Given the description of an element on the screen output the (x, y) to click on. 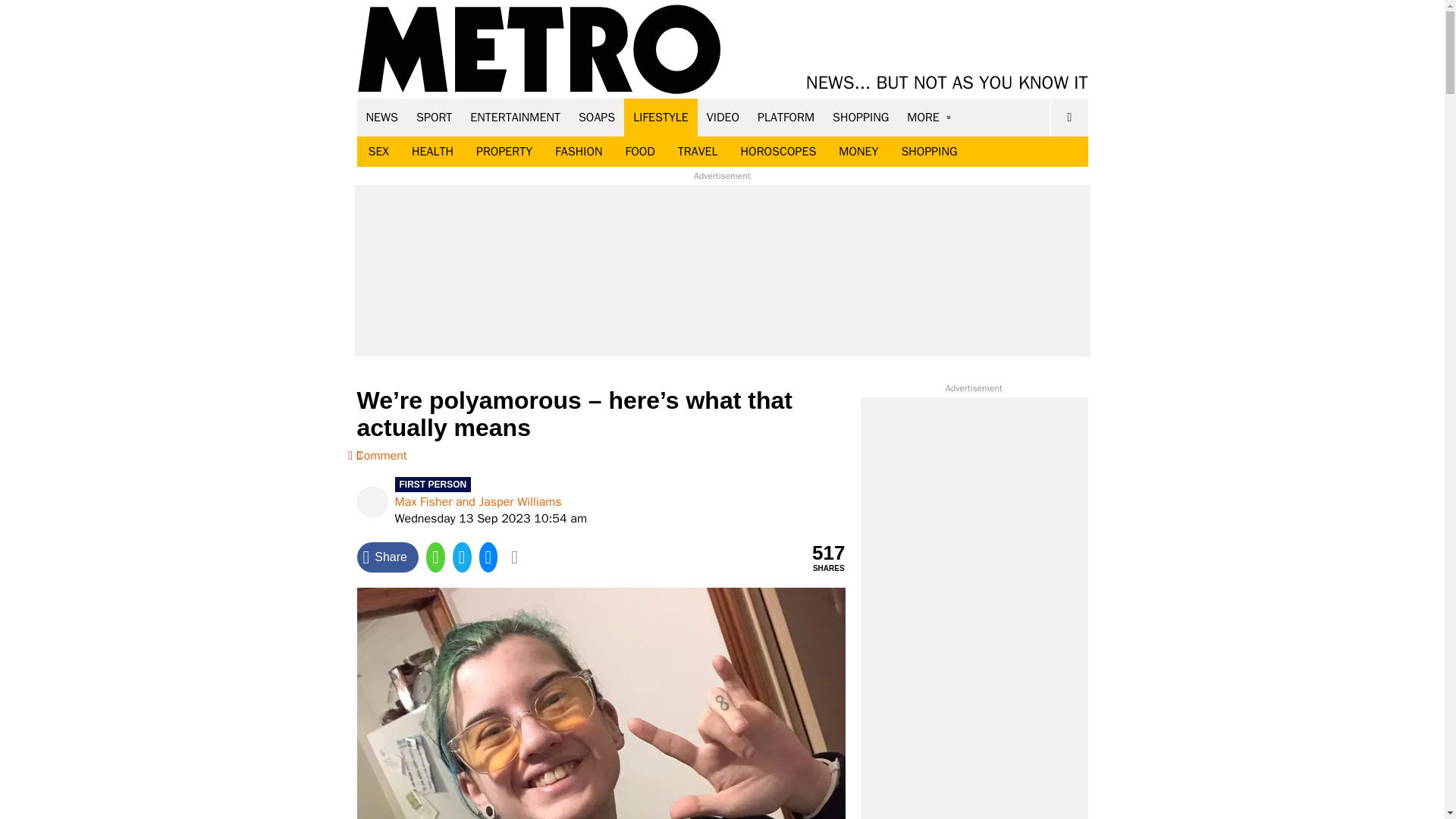
FOOD (638, 151)
SOAPS (596, 117)
LIFESTYLE (660, 117)
ENTERTAINMENT (515, 117)
SEX (377, 151)
Metro (539, 50)
SPORT (434, 117)
PROPERTY (503, 151)
FASHION (577, 151)
HEALTH (432, 151)
